Given the description of an element on the screen output the (x, y) to click on. 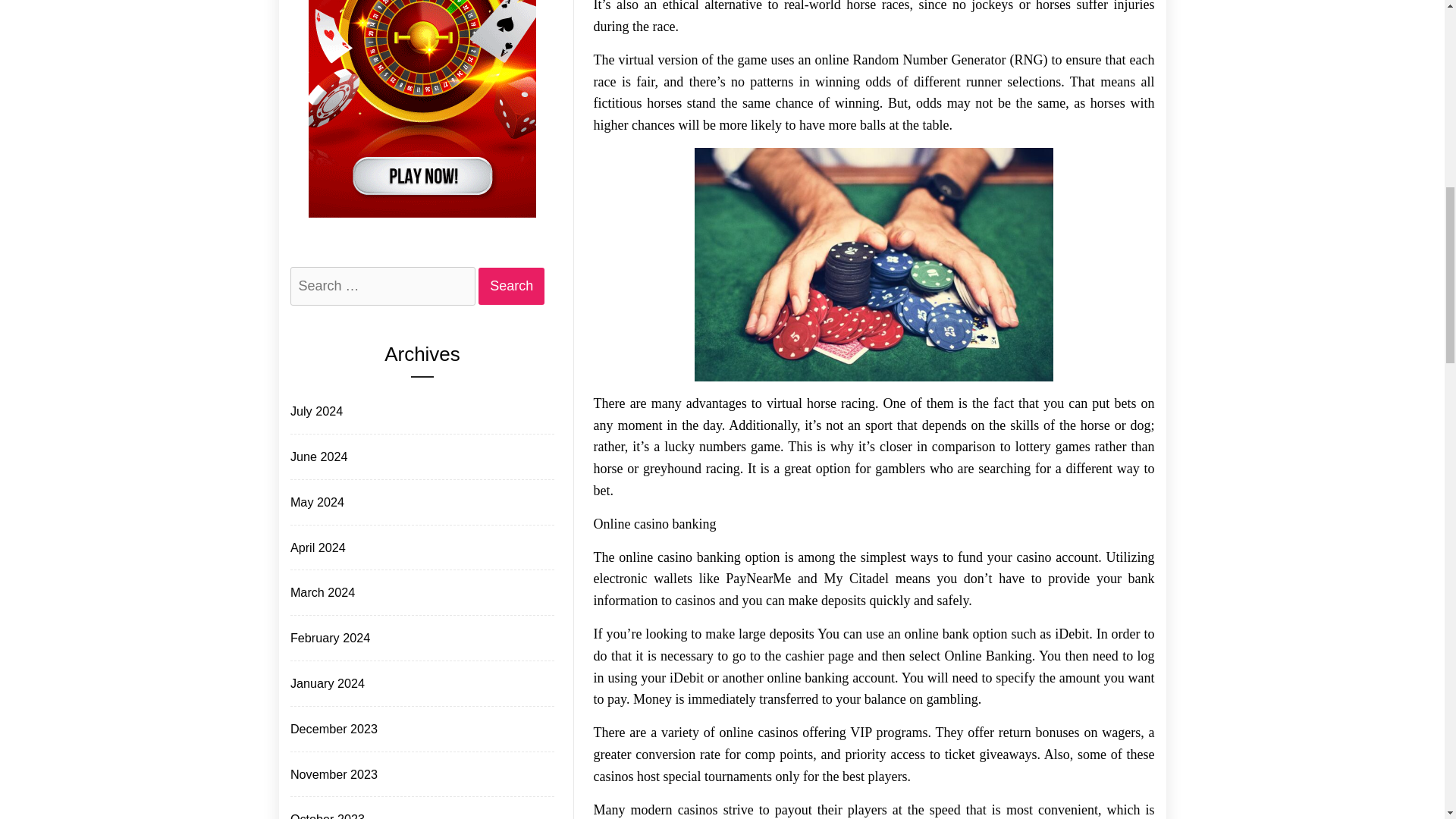
May 2024 (314, 502)
June 2024 (316, 456)
February 2024 (328, 638)
March 2024 (320, 592)
Search (511, 285)
November 2023 (332, 774)
July 2024 (314, 411)
Search (511, 285)
Search (511, 285)
October 2023 (325, 813)
January 2024 (325, 683)
December 2023 (332, 729)
April 2024 (316, 547)
